Given the description of an element on the screen output the (x, y) to click on. 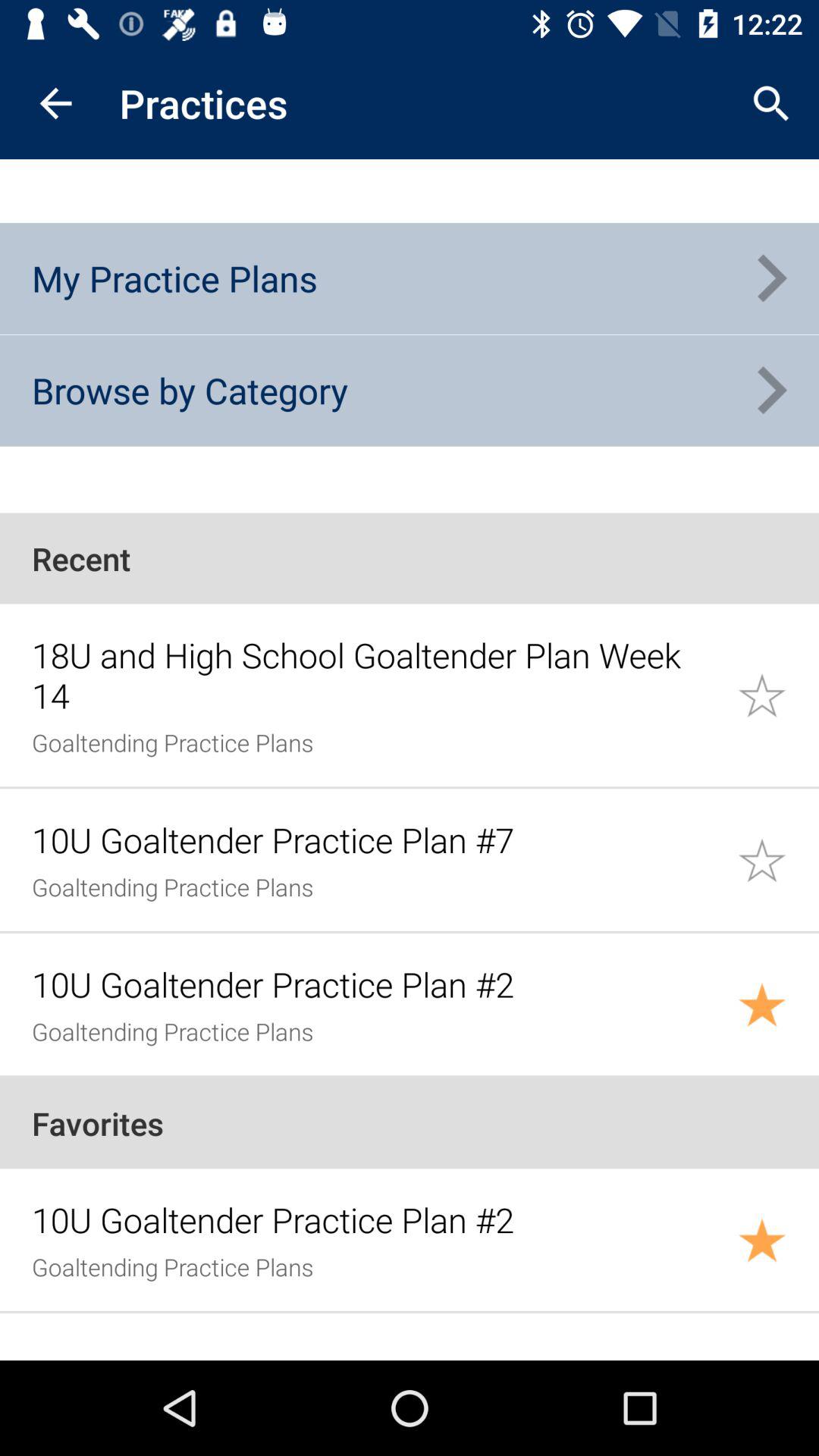
remove favorite (778, 1239)
